Given the description of an element on the screen output the (x, y) to click on. 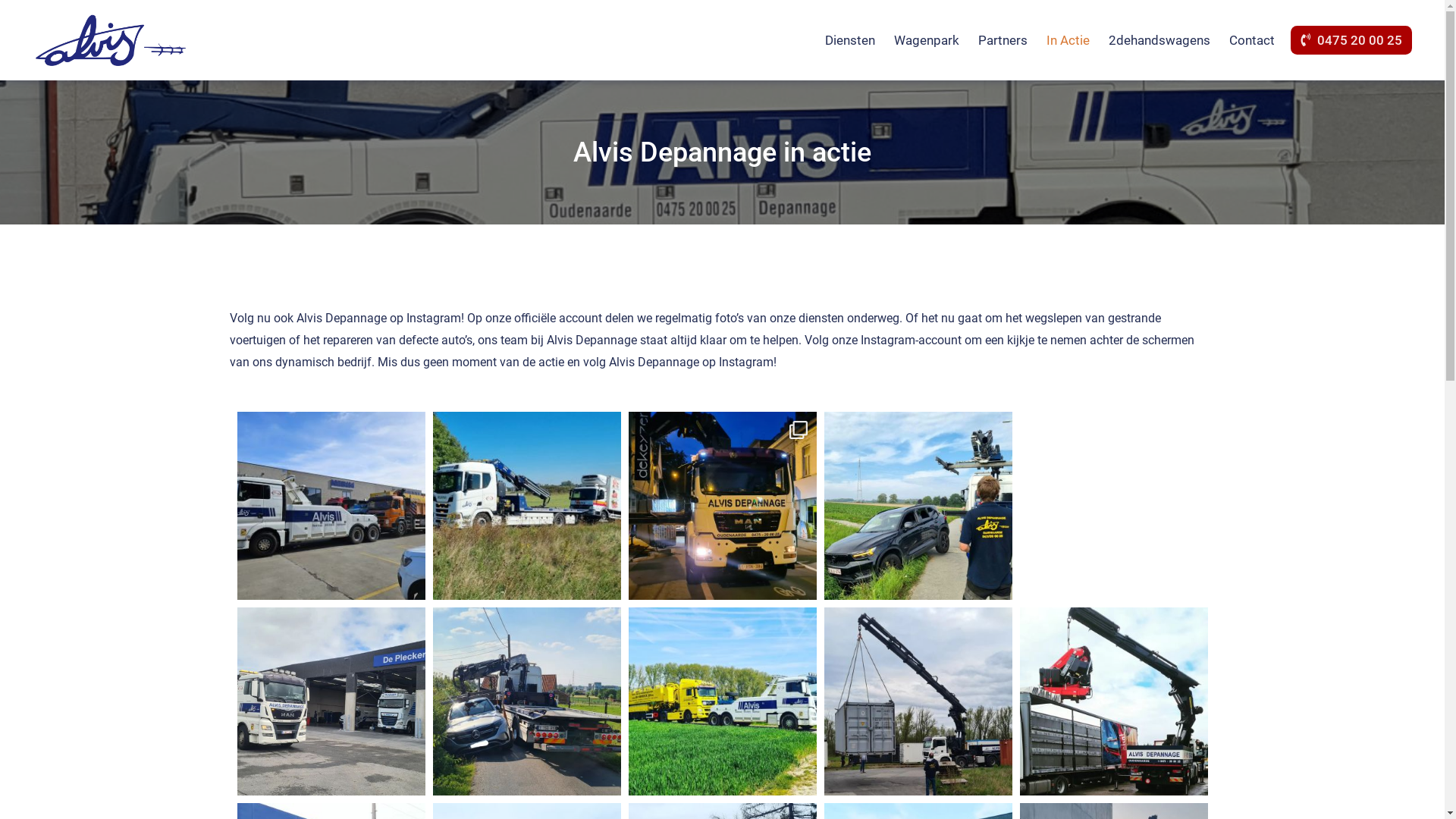
In Actie Element type: text (1067, 40)
Partners Element type: text (1002, 40)
Contact Element type: text (1251, 40)
  0475 20 00 25 Element type: text (1351, 39)
Diensten Element type: text (850, 40)
2dehandswagens Element type: text (1159, 40)
Wagenpark Element type: text (926, 40)
